Given the description of an element on the screen output the (x, y) to click on. 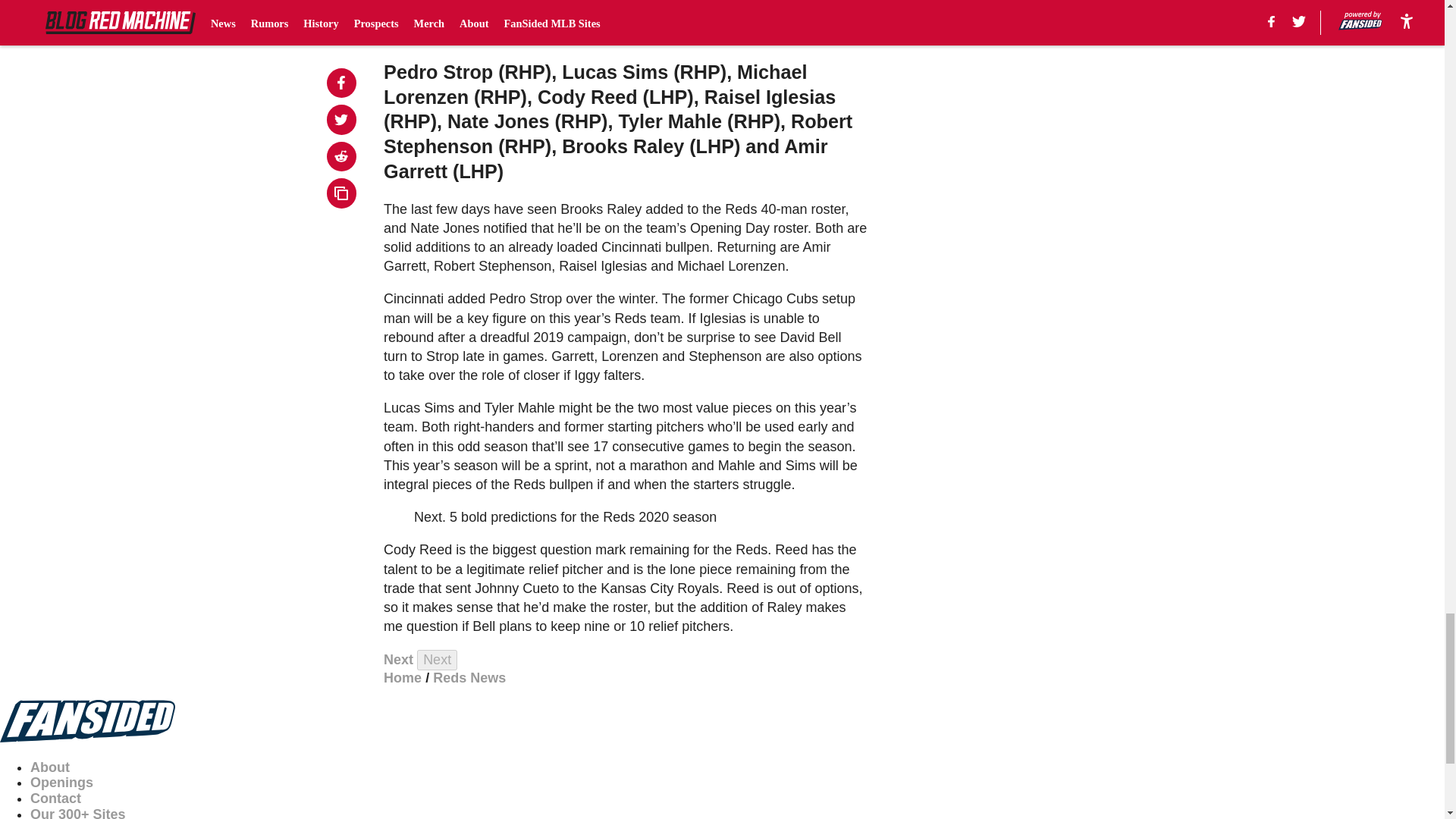
Reds News (468, 677)
Next (398, 659)
Home (403, 677)
Next (436, 660)
